Given the description of an element on the screen output the (x, y) to click on. 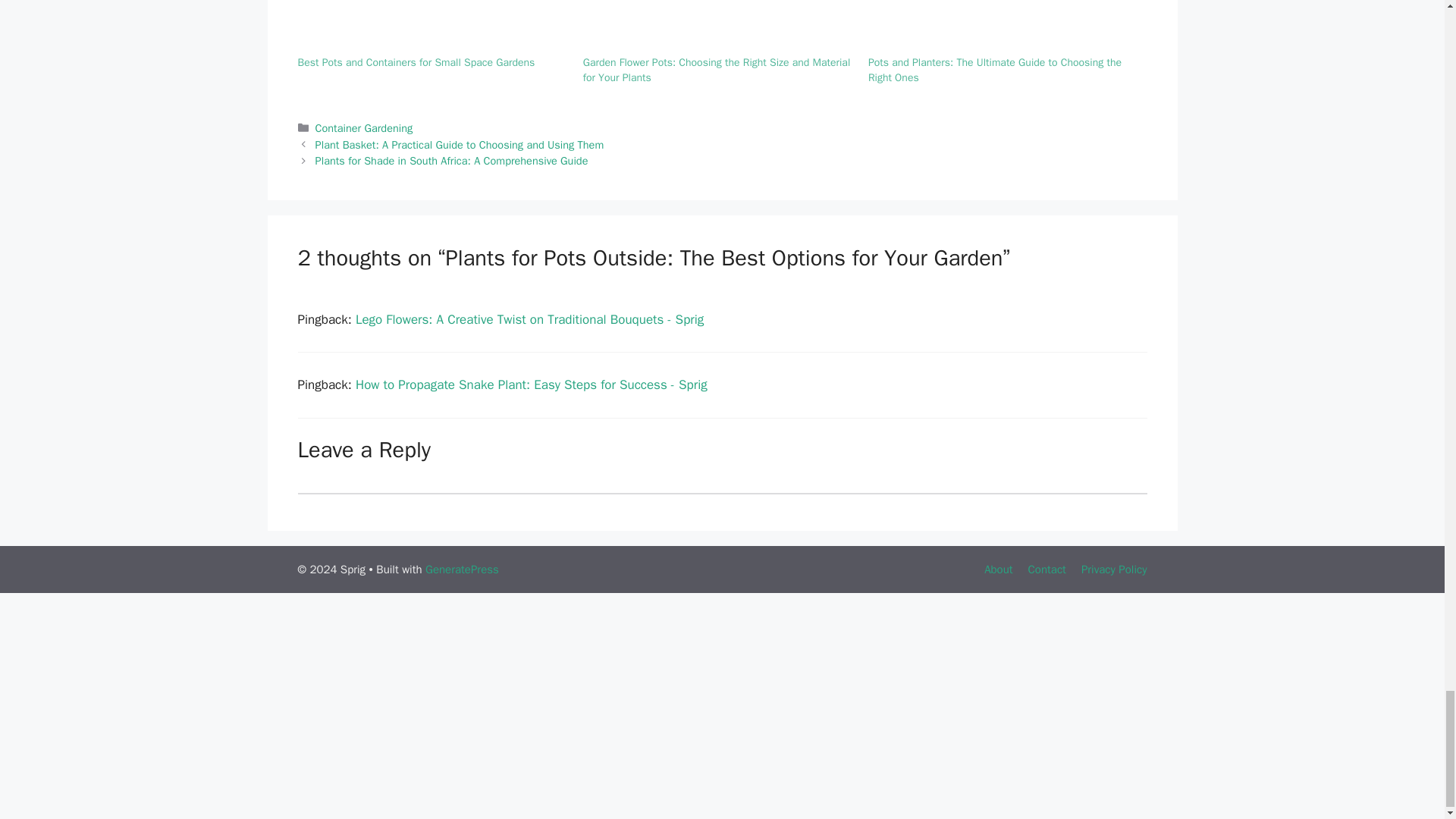
Best Pots and Containers for Small Space Gardens (415, 62)
Best Pots and Containers for Small Space Gardens (432, 27)
Best Pots and Containers for Small Space Gardens (415, 62)
